Given the description of an element on the screen output the (x, y) to click on. 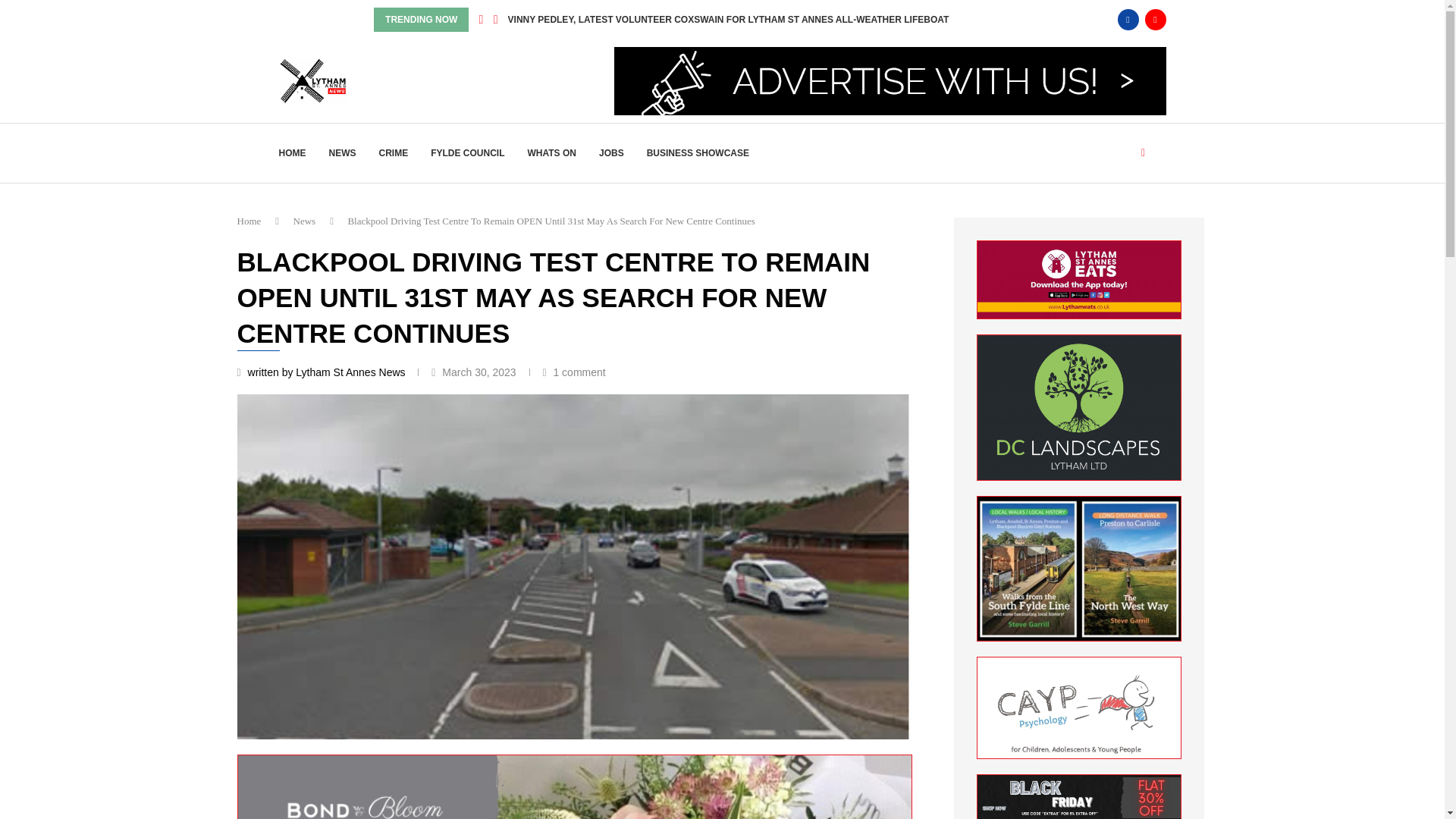
WHATS ON (551, 153)
BUSINESS SHOWCASE (697, 153)
FYLDE COUNCIL (466, 153)
